Given the description of an element on the screen output the (x, y) to click on. 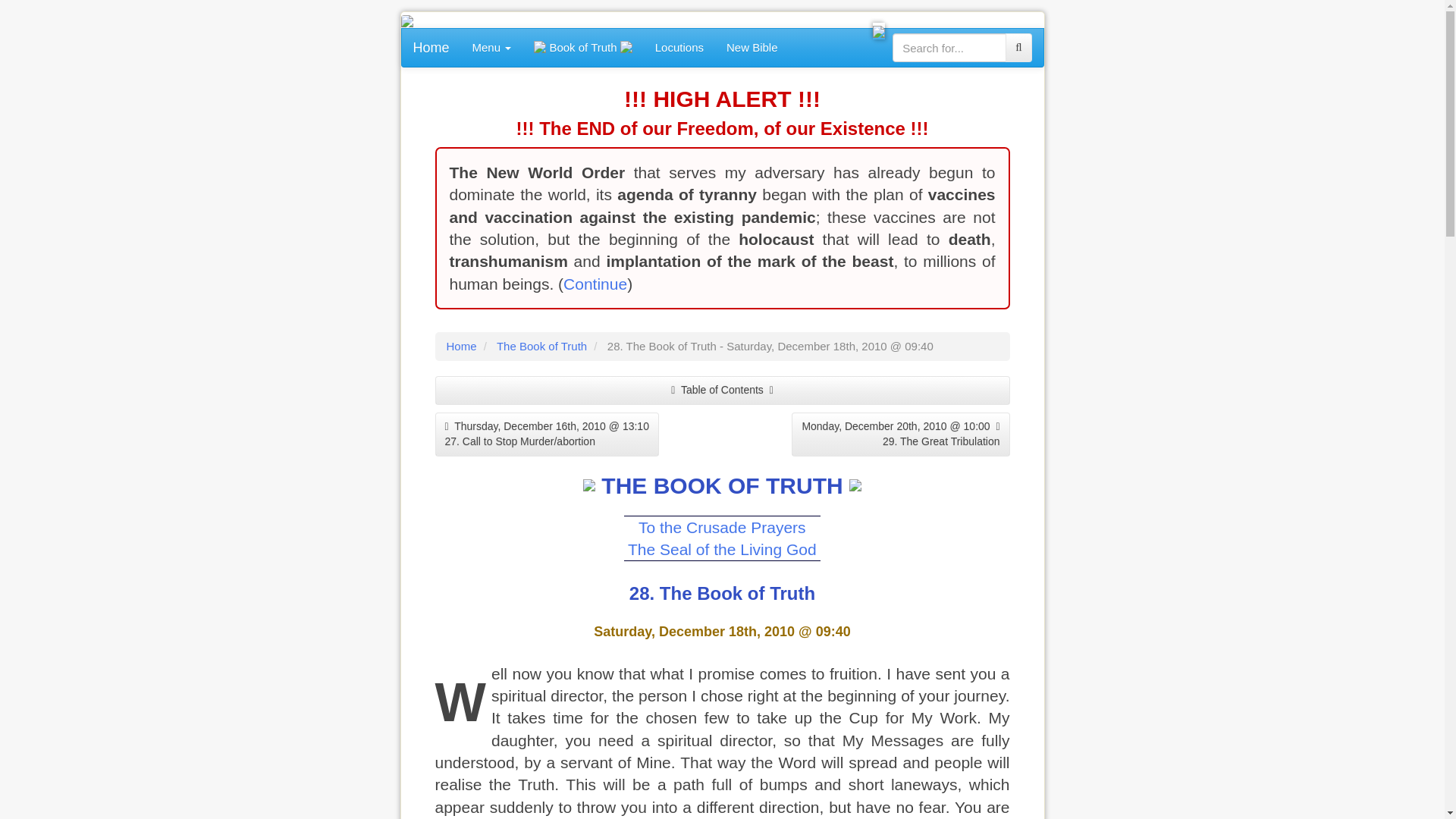
Locutions (678, 47)
Home (431, 47)
Book of Truth (582, 47)
 The Seal of the Living God  (722, 548)
New Bible (751, 47)
The Book of Truth (541, 345)
Menu (491, 47)
  Table of Contents   (722, 389)
Gate to New Light From Heaven (877, 30)
 To the Crusade Prayers  (722, 527)
Home (460, 345)
Continue (595, 283)
